Given the description of an element on the screen output the (x, y) to click on. 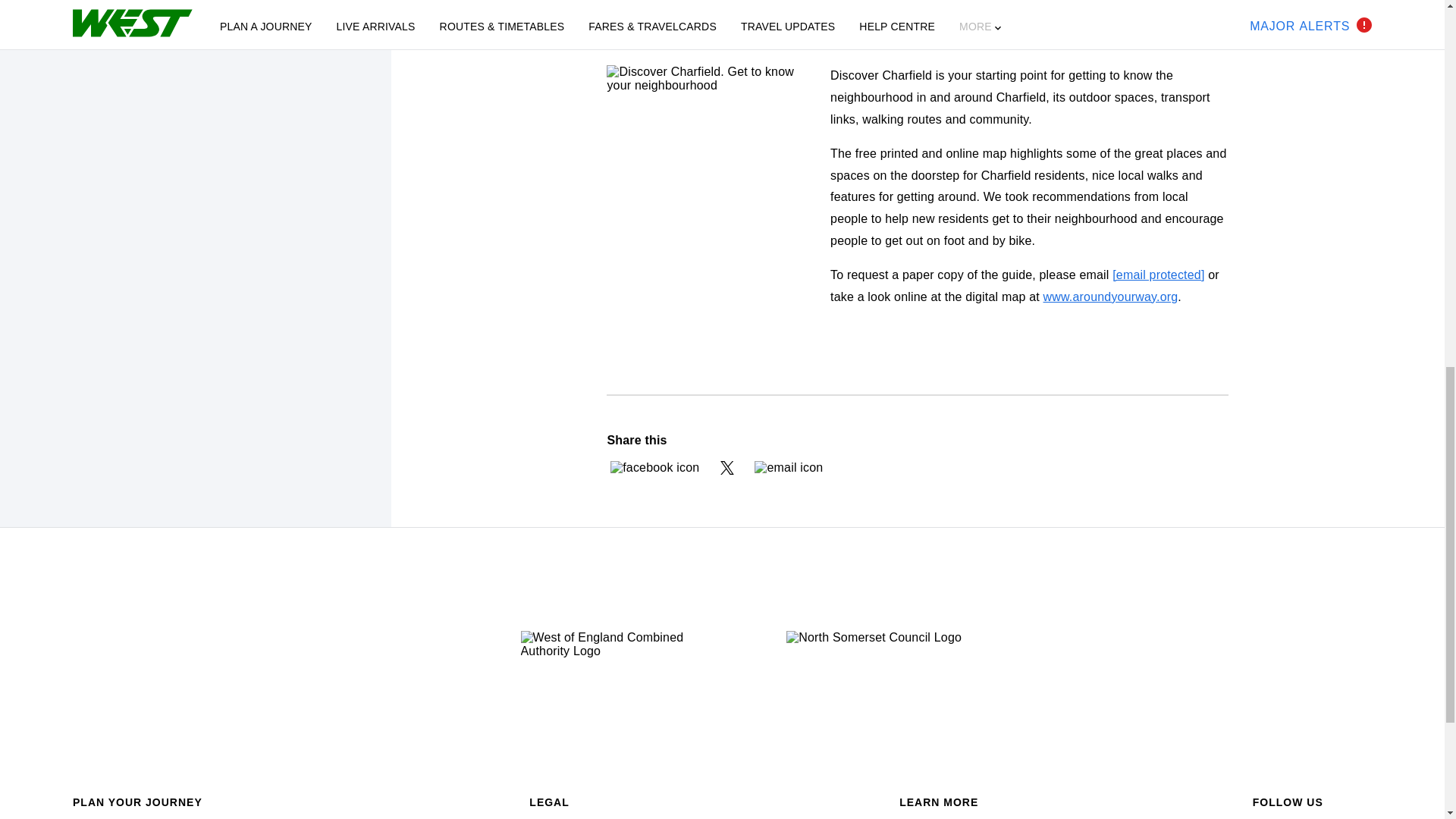
Share the current page via email (788, 468)
Share the current page via twitter (727, 468)
Share the current page via facebook (654, 468)
